Given the description of an element on the screen output the (x, y) to click on. 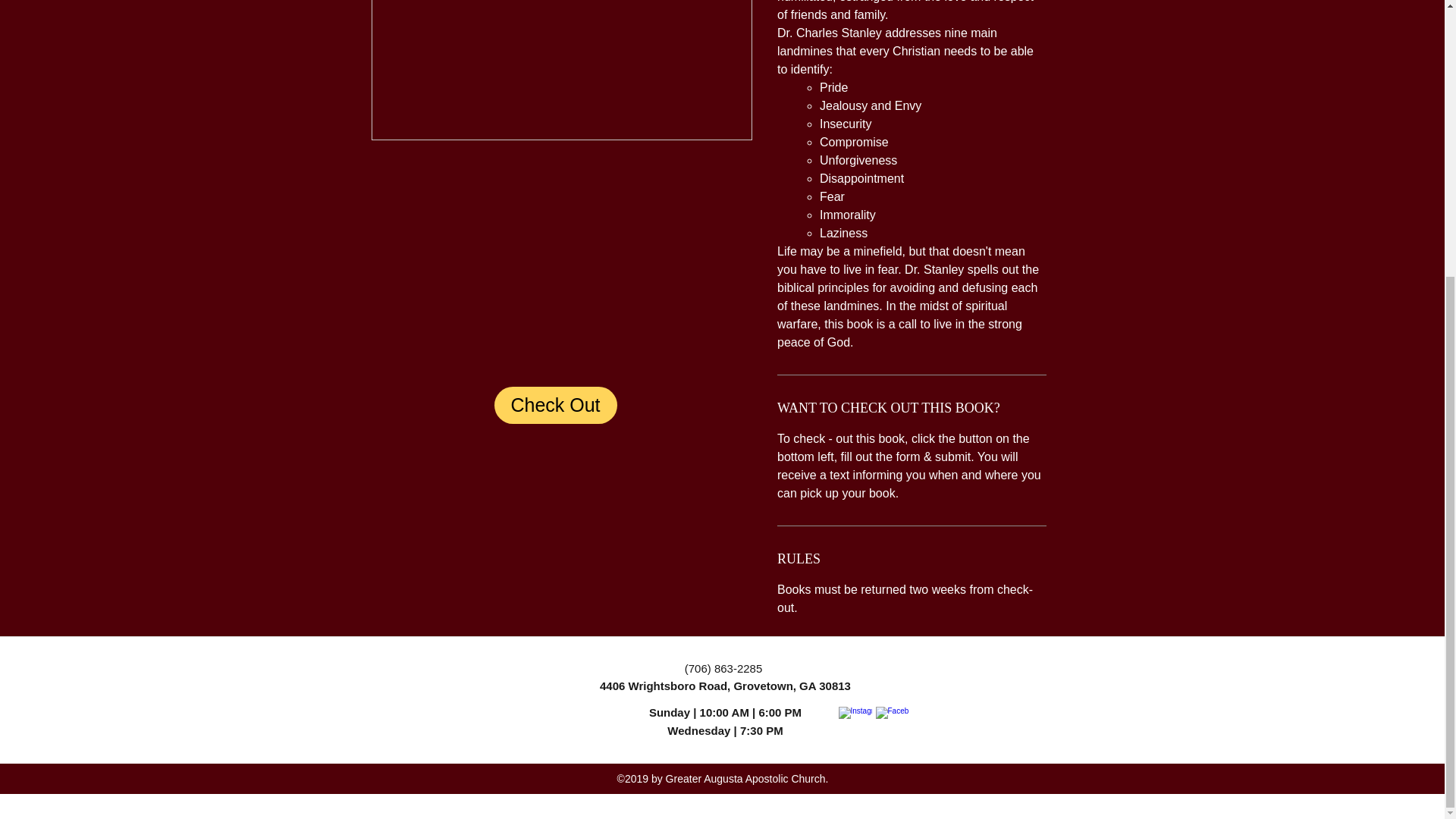
Check Out (556, 405)
